Given the description of an element on the screen output the (x, y) to click on. 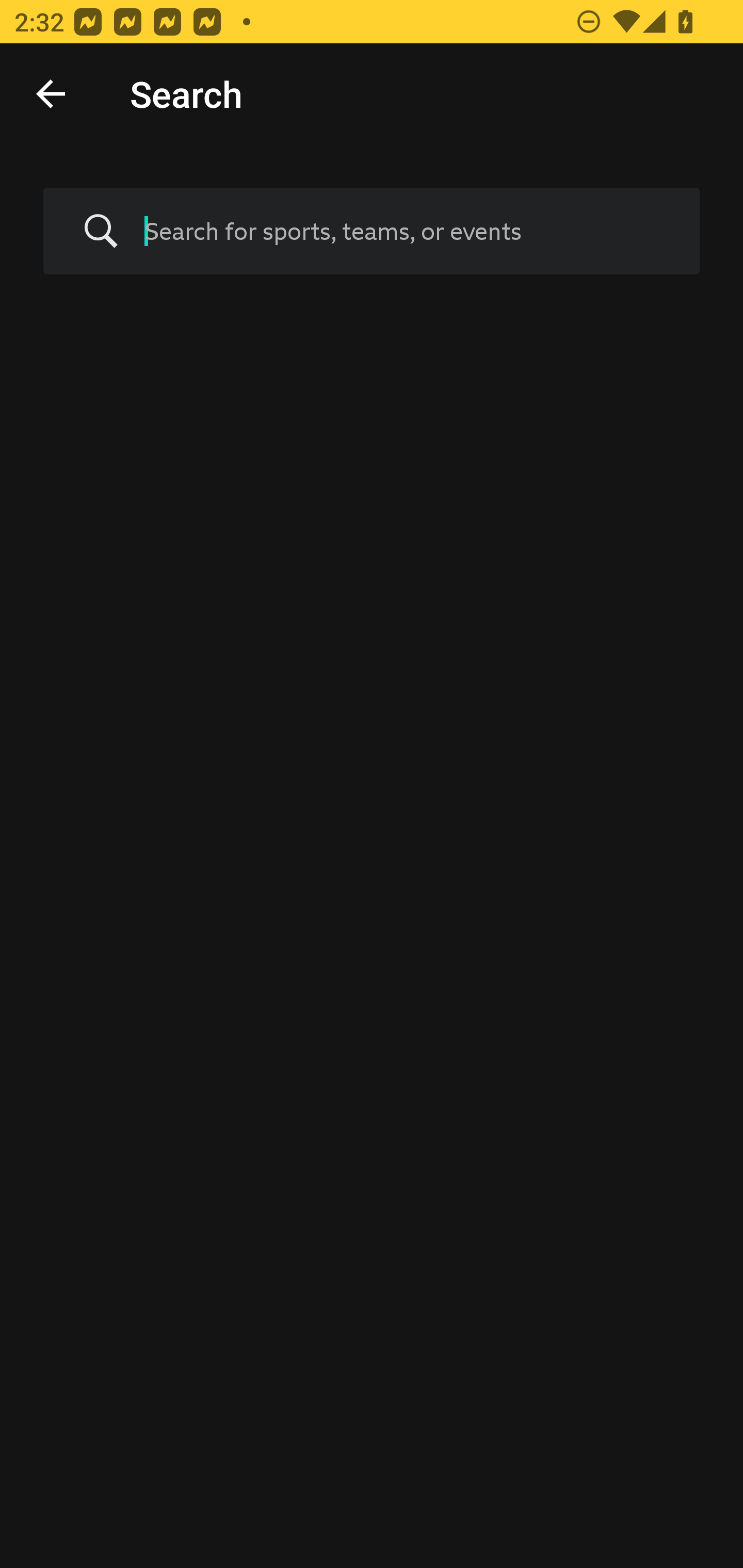
Done (50, 93)
Search for sports, teams, or events (371, 231)
Search for sports, teams, or events (407, 231)
